Given the description of an element on the screen output the (x, y) to click on. 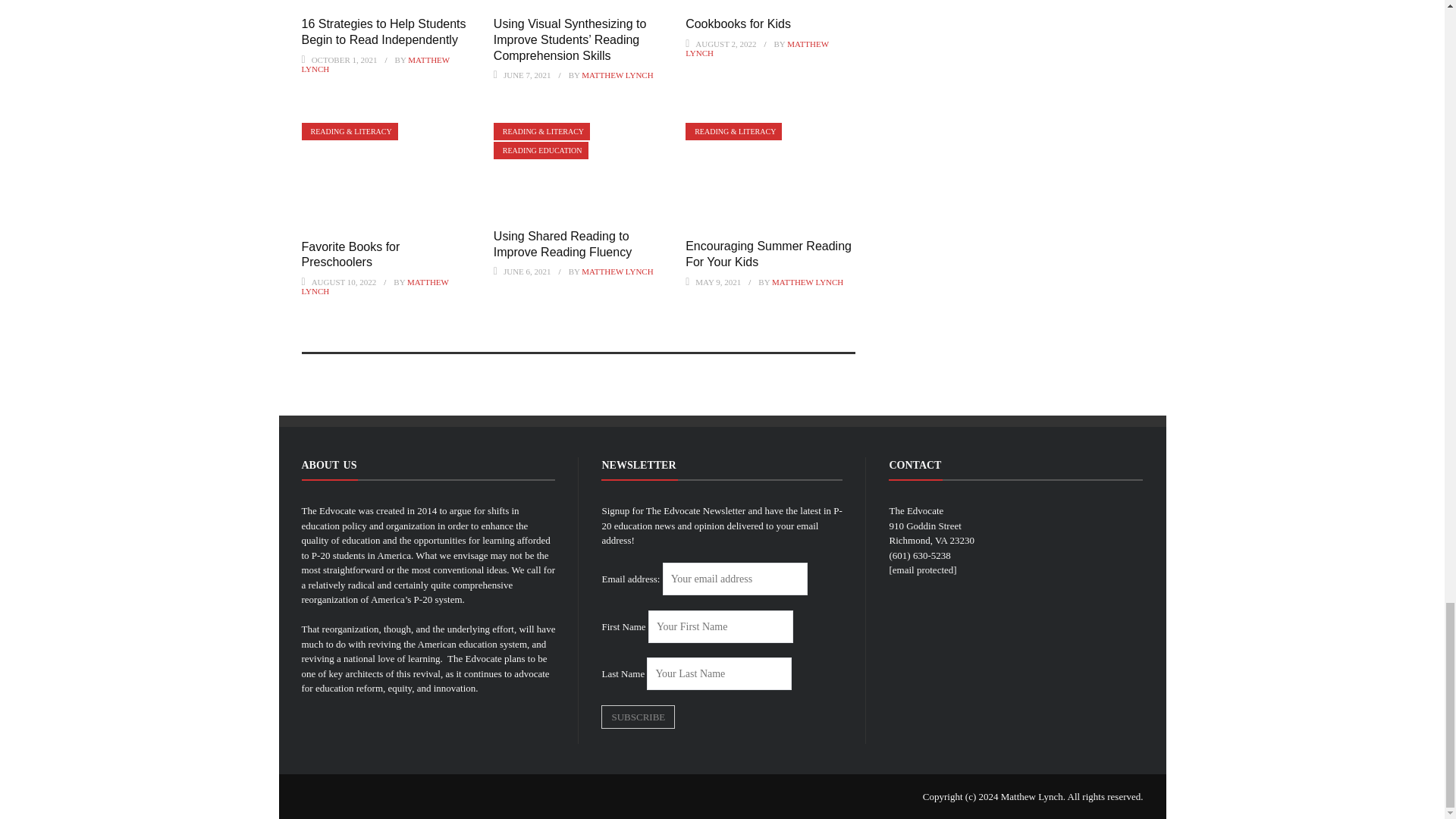
Subscribe (638, 717)
